Given the description of an element on the screen output the (x, y) to click on. 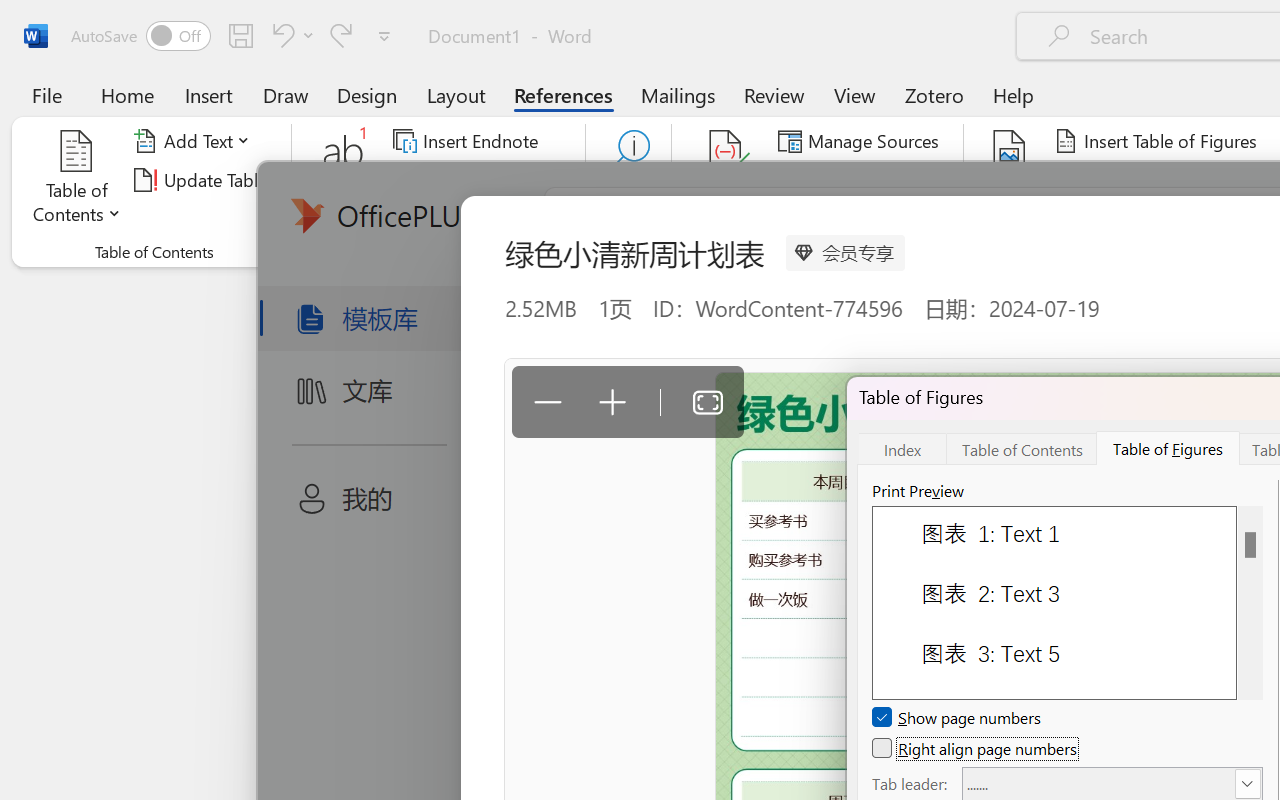
Index (902, 447)
Table of Contents (77, 179)
Manage Sources... (861, 141)
Show page numbers (957, 717)
Add Text (195, 141)
Insert Endnote (468, 141)
Insert Citation (726, 179)
Undo Apply Quick Style Set (280, 35)
Style (901, 179)
